Given the description of an element on the screen output the (x, y) to click on. 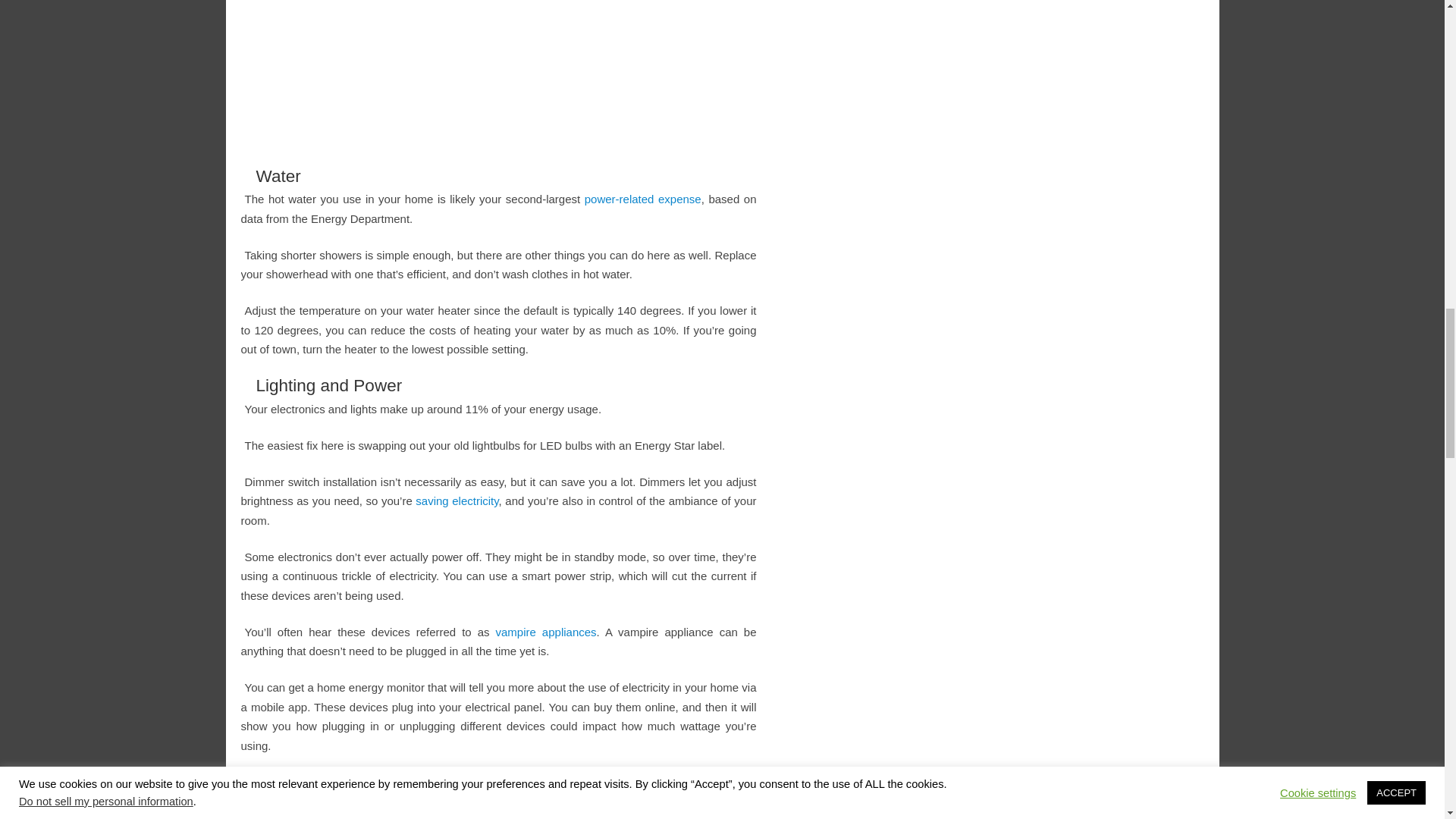
vampire appliances (546, 631)
power-related expense (643, 198)
saving electricity (455, 500)
